Given the description of an element on the screen output the (x, y) to click on. 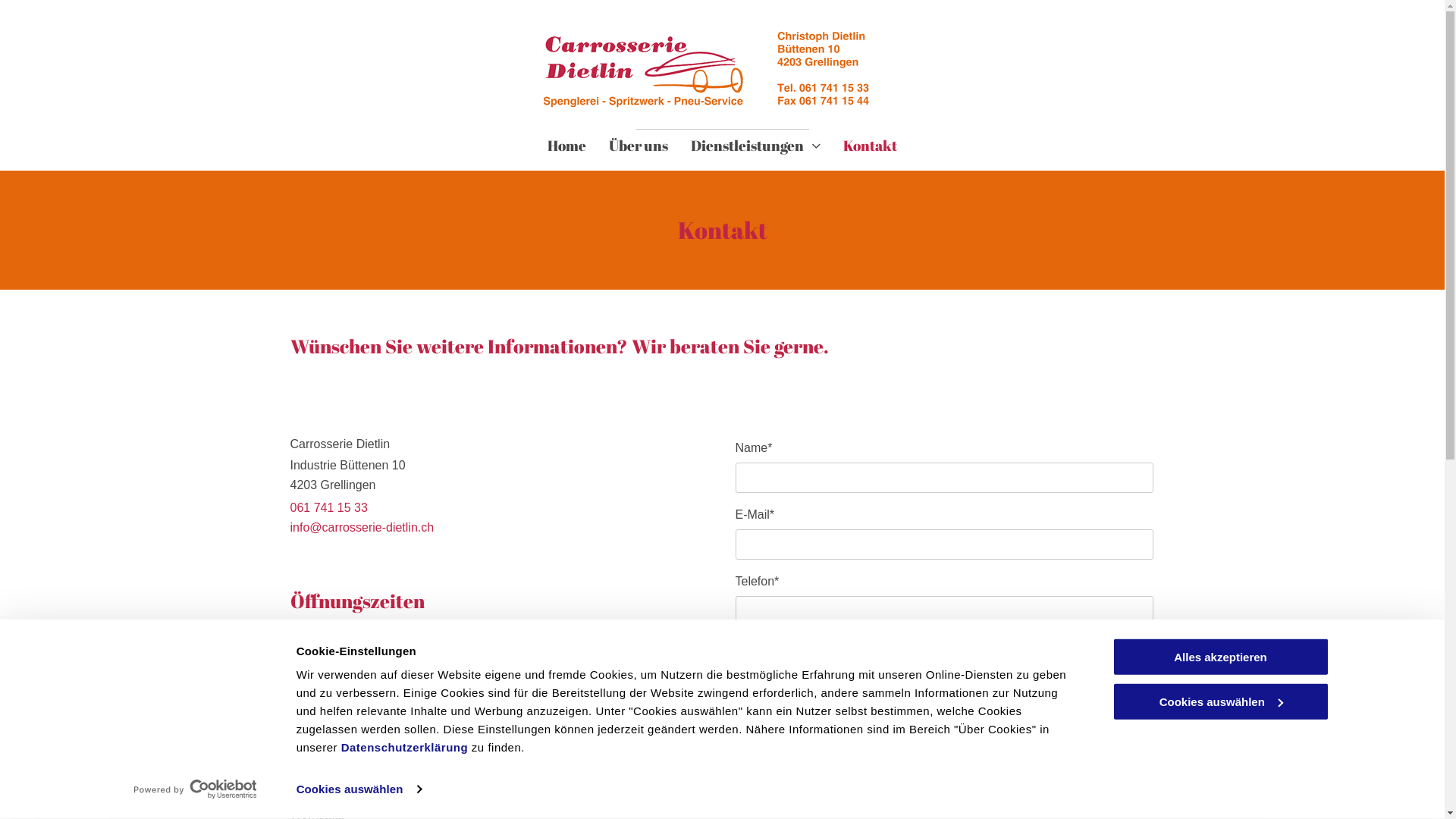
info@carrosserie-dietlin.ch Element type: text (361, 526)
Alles akzeptieren Element type: text (1219, 656)
Dienstleistungen Element type: text (755, 144)
061 741 15 33 Element type: text (328, 507)
Kontakt Element type: text (870, 144)
Home Element type: text (566, 144)
Senden Element type: text (775, 757)
